Given the description of an element on the screen output the (x, y) to click on. 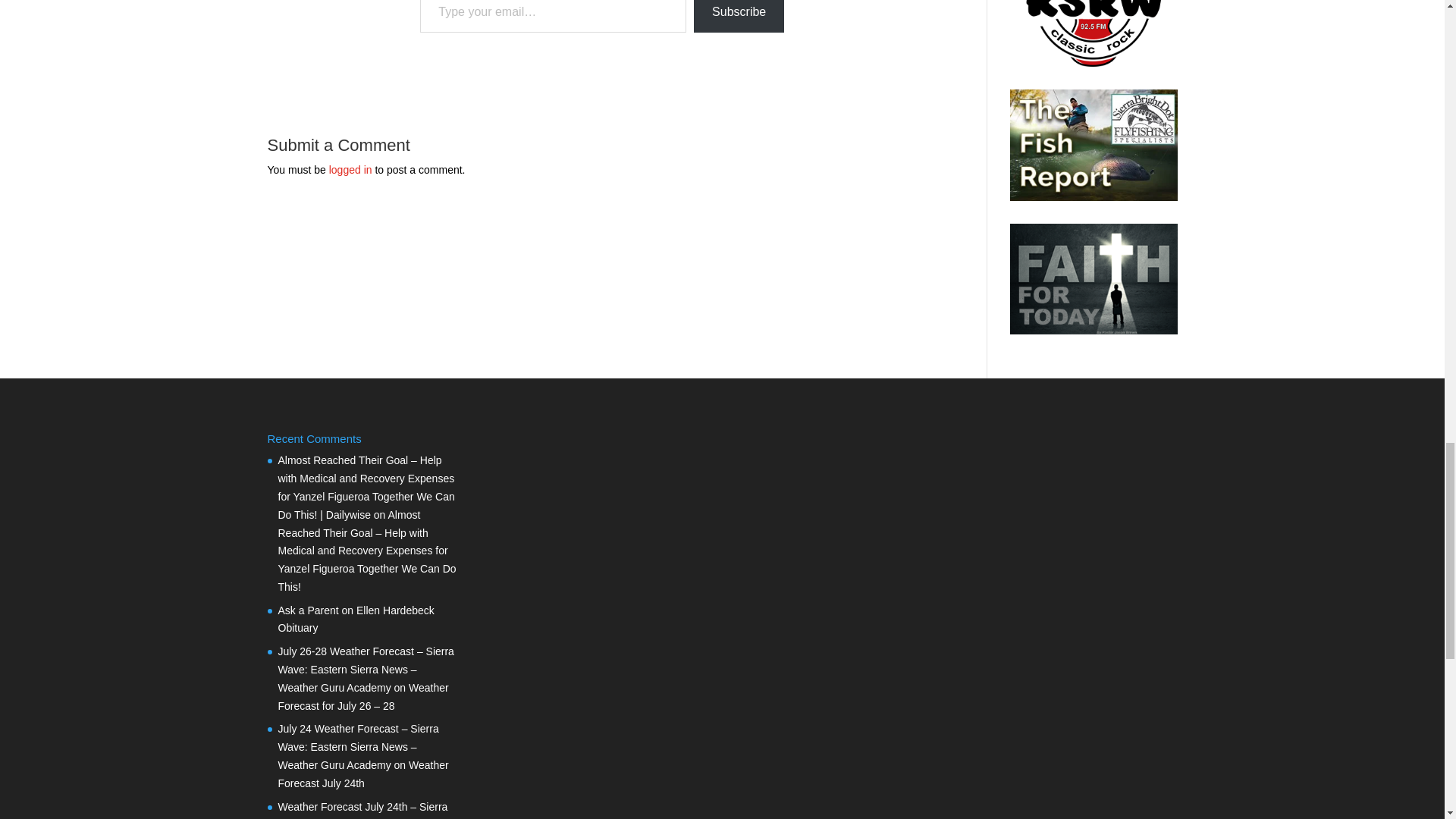
Subscribe (739, 16)
logged in (350, 169)
Ellen Hardebeck Obituary (355, 619)
